Given the description of an element on the screen output the (x, y) to click on. 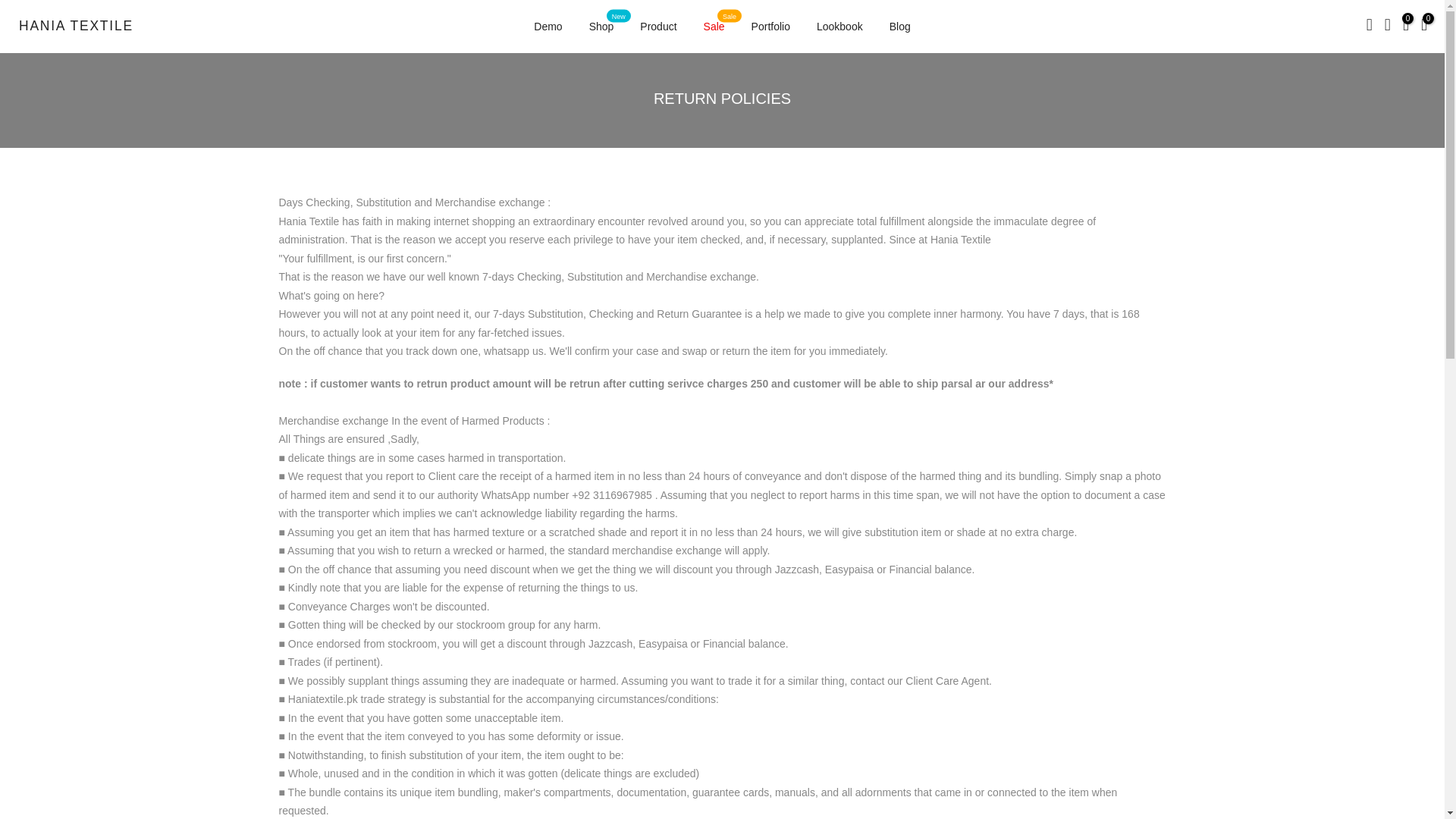
HANIA TEXTILE (75, 26)
Lookbook (839, 26)
Blog (899, 26)
0 (714, 26)
Product (1405, 26)
Portfolio (658, 26)
Demo (770, 26)
